Given the description of an element on the screen output the (x, y) to click on. 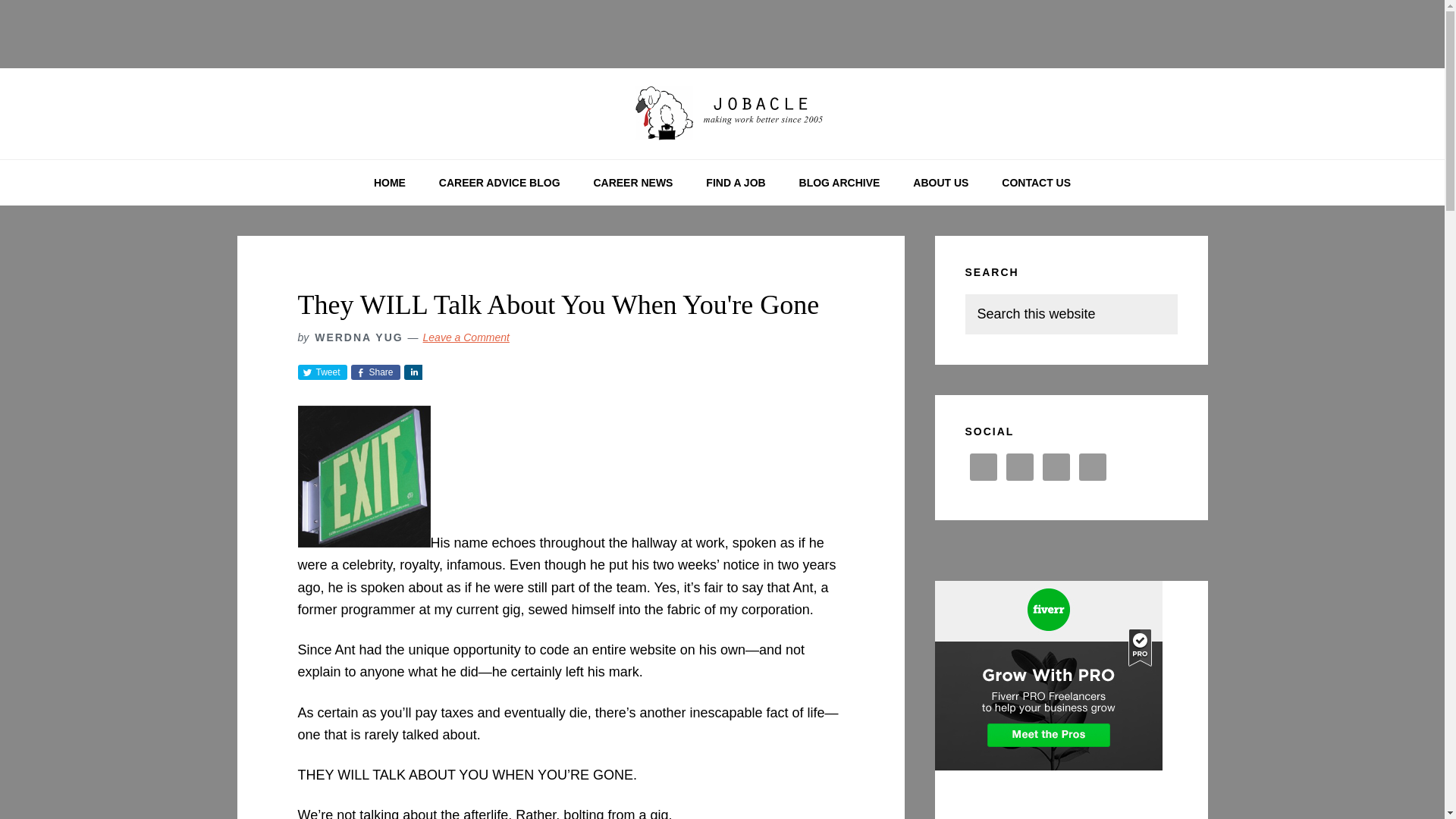
CAREER ADVICE BLOG (499, 182)
WERDNA YUG (358, 337)
Jobacle.com (721, 113)
Share (412, 372)
Share (374, 372)
Tweet (321, 372)
FIND A JOB (735, 182)
